Given the description of an element on the screen output the (x, y) to click on. 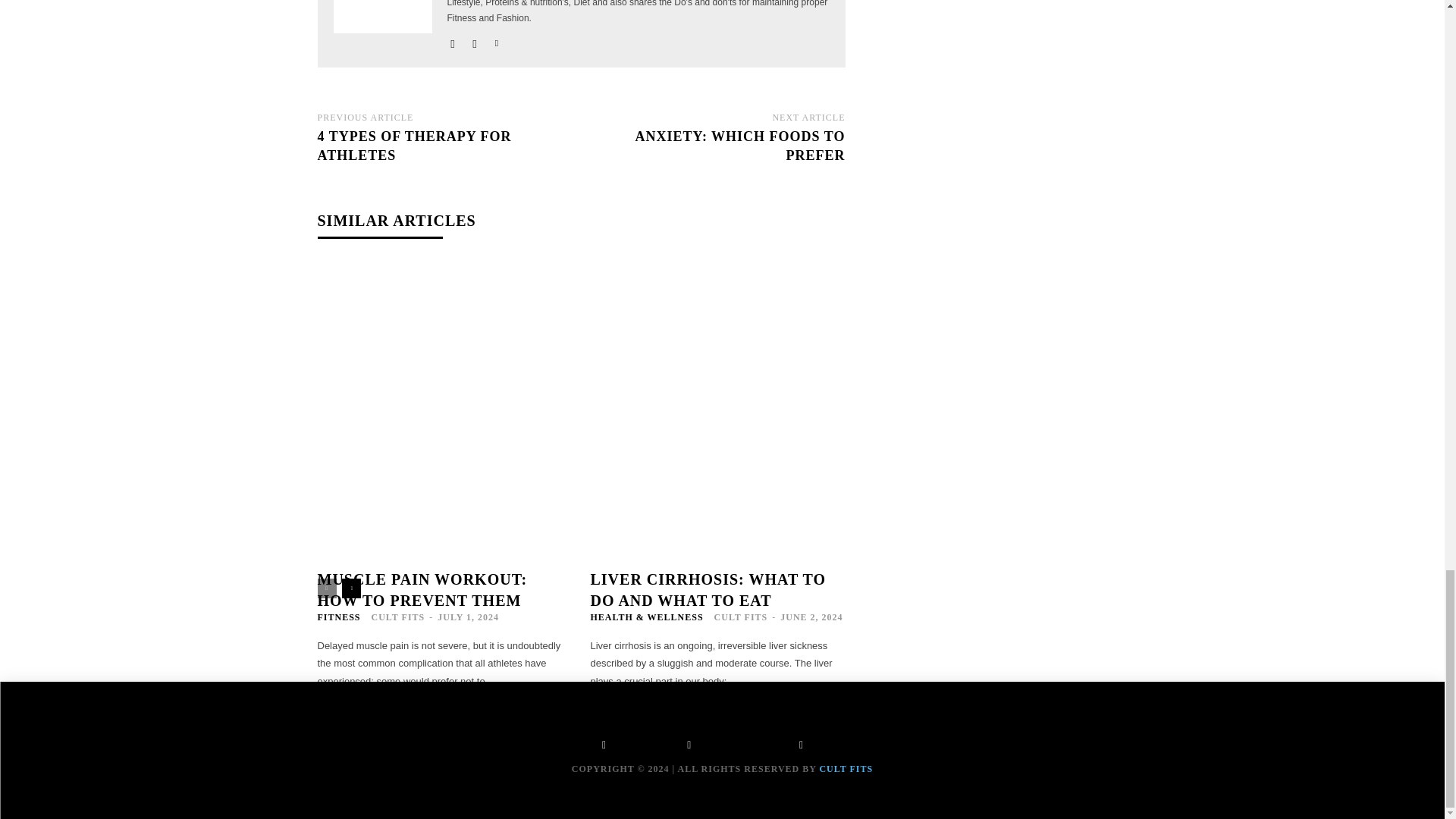
Liver Cirrhosis: What To Do And What To Eat (707, 589)
Muscle Pain Workout: How To Prevent Them (444, 347)
Muscle Pain Workout: How To Prevent Them (422, 589)
facebook (452, 40)
twitter (497, 40)
instagram (474, 40)
Liver Cirrhosis: What To Do And What To Eat (716, 347)
